Given the description of an element on the screen output the (x, y) to click on. 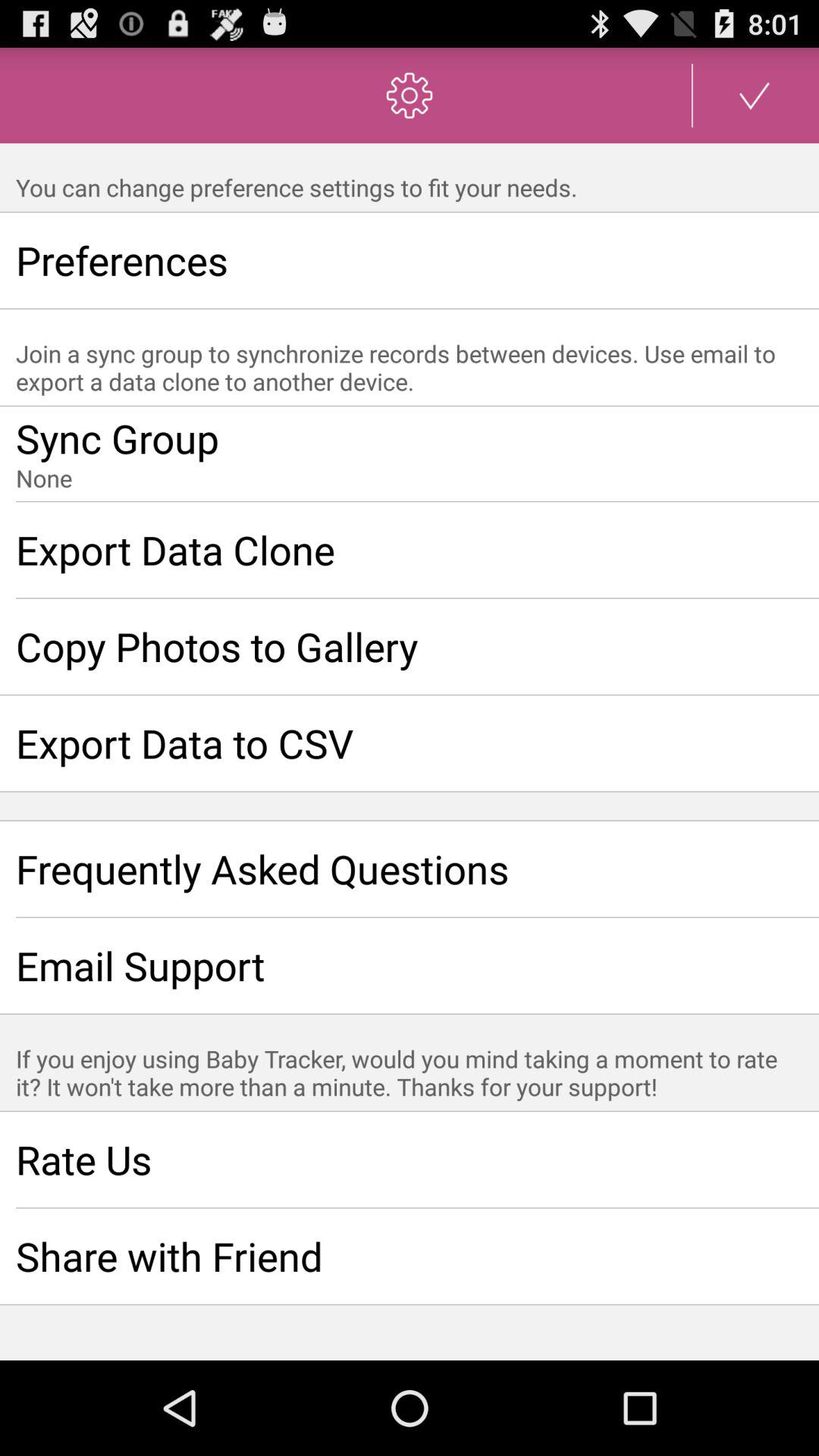
jump to rate us (409, 1159)
